Given the description of an element on the screen output the (x, y) to click on. 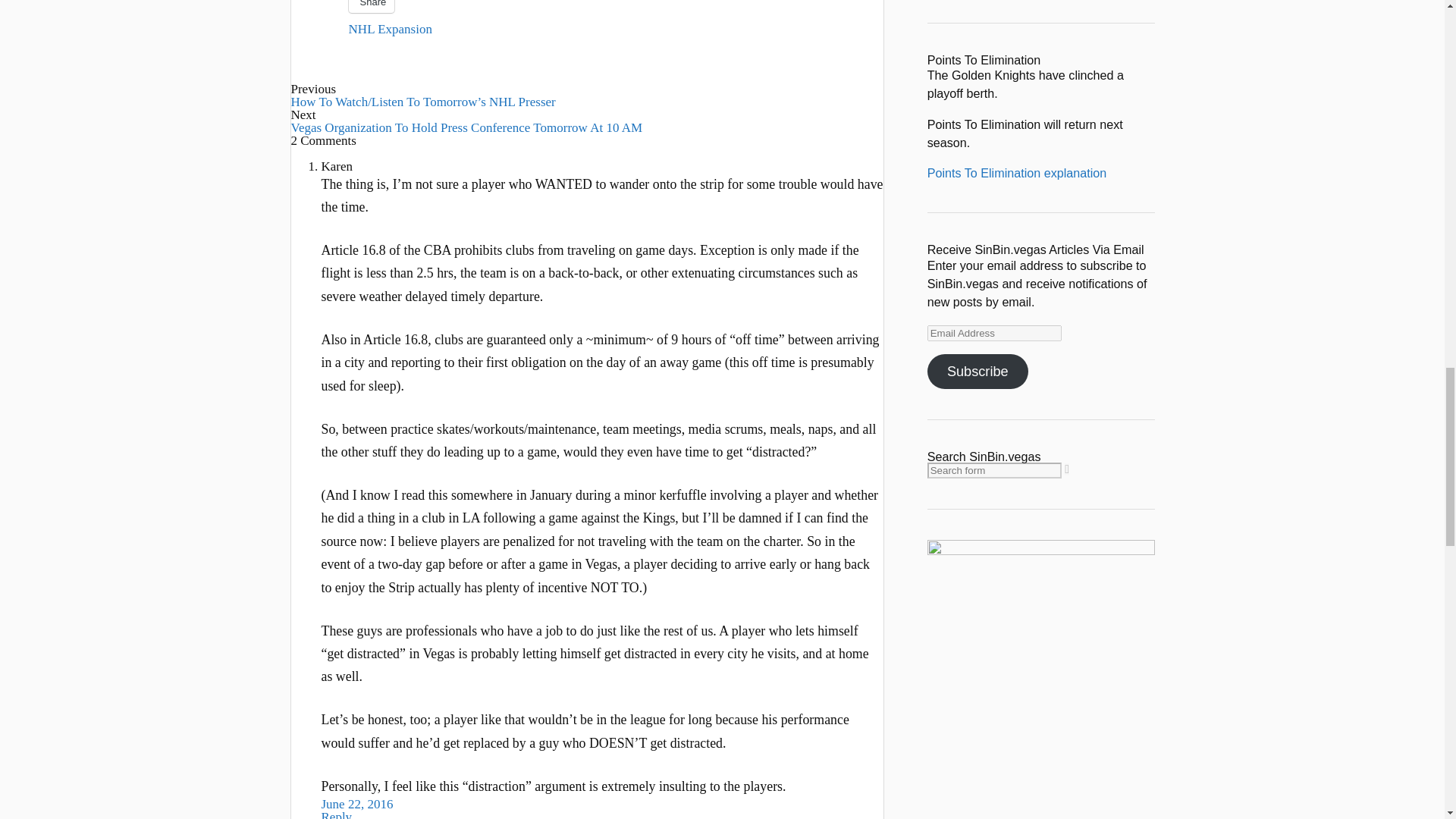
Share (371, 6)
NHL Expansion (390, 29)
June 22, 2016 at 11:10 AM (357, 803)
